Given the description of an element on the screen output the (x, y) to click on. 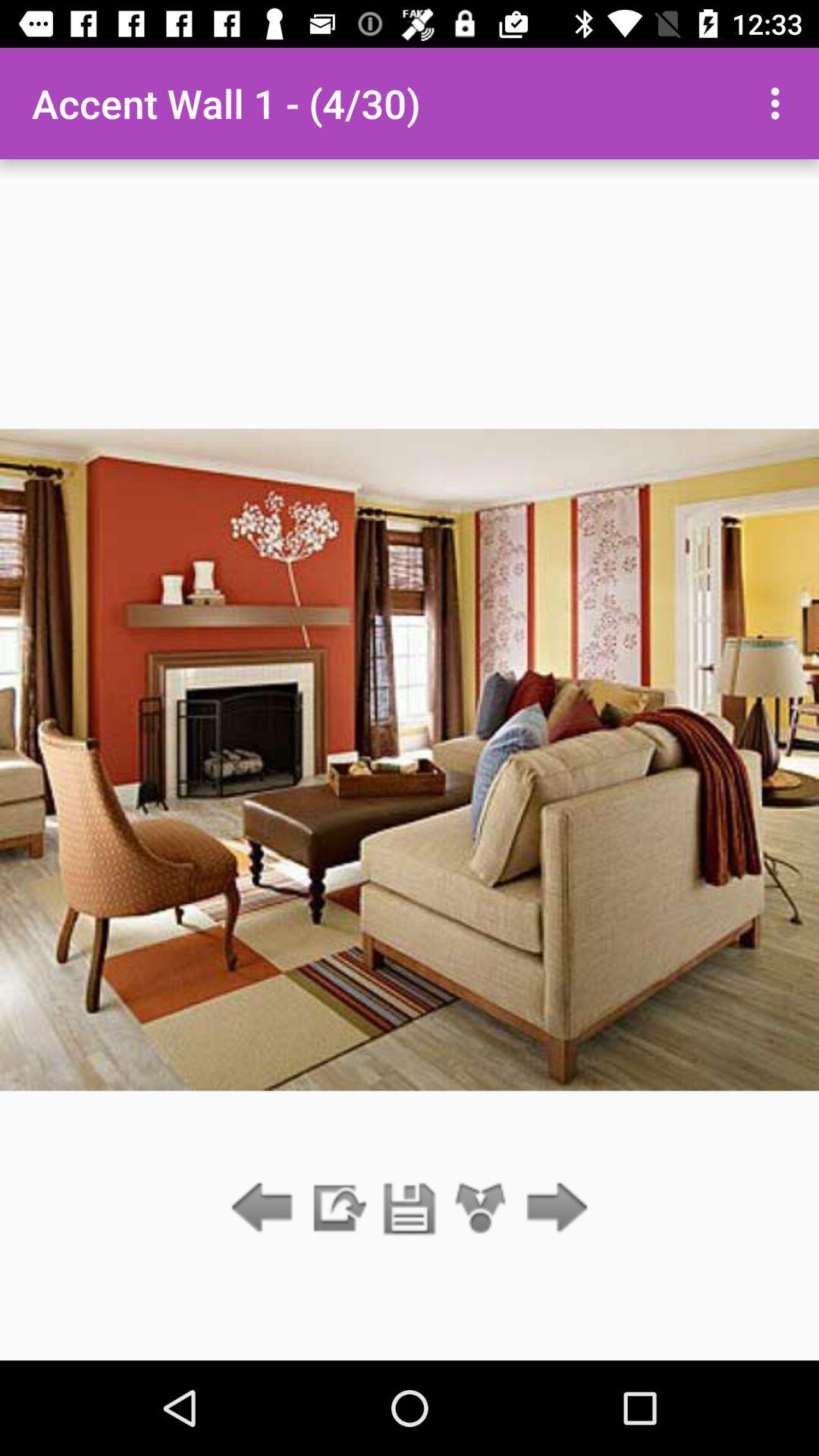
save information (337, 1208)
